Given the description of an element on the screen output the (x, y) to click on. 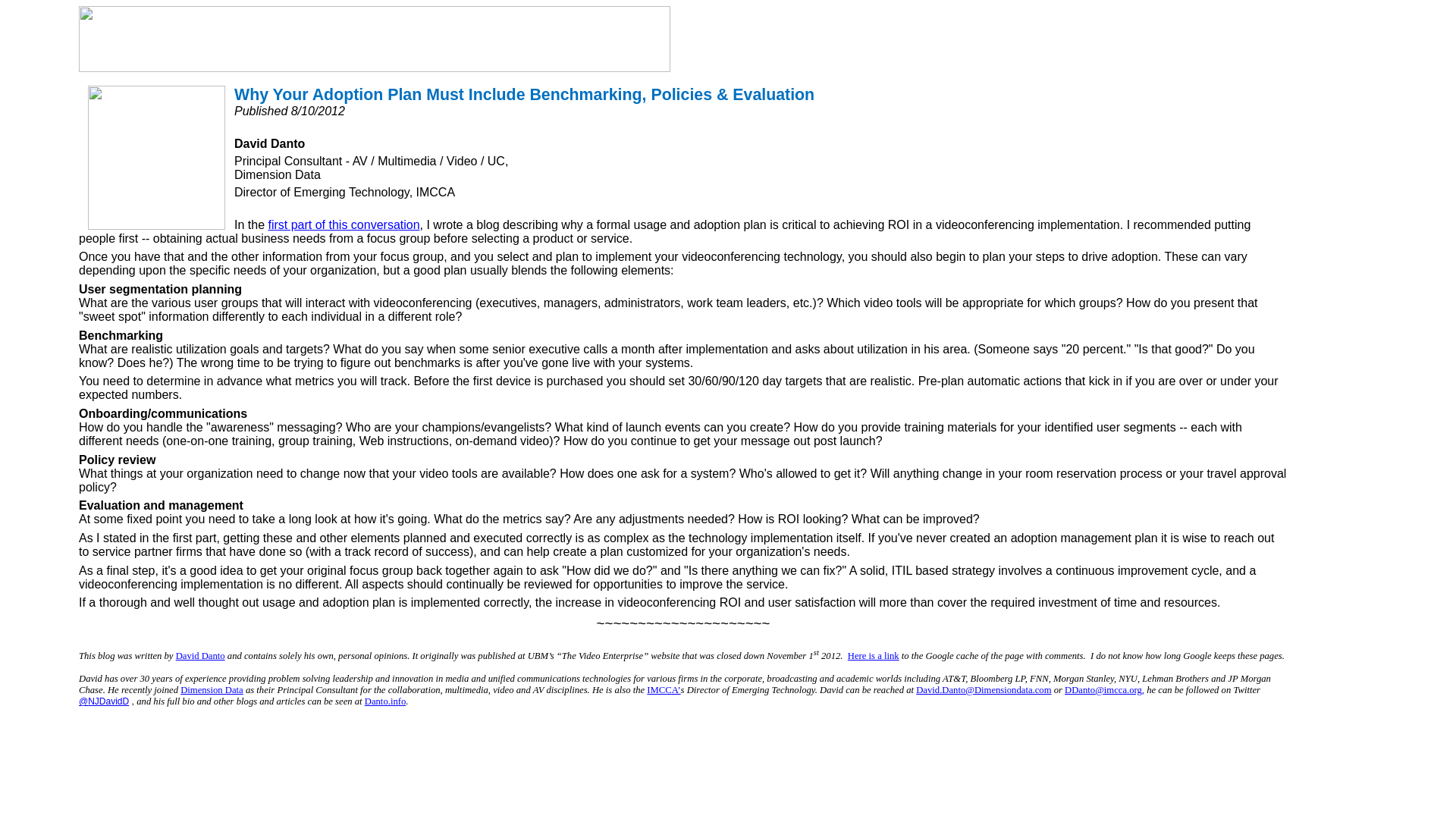
Dimension Data (211, 688)
Here is a link (873, 655)
Danto.info (385, 699)
David Danto (200, 654)
first part of this conversation (343, 224)
